Given the description of an element on the screen output the (x, y) to click on. 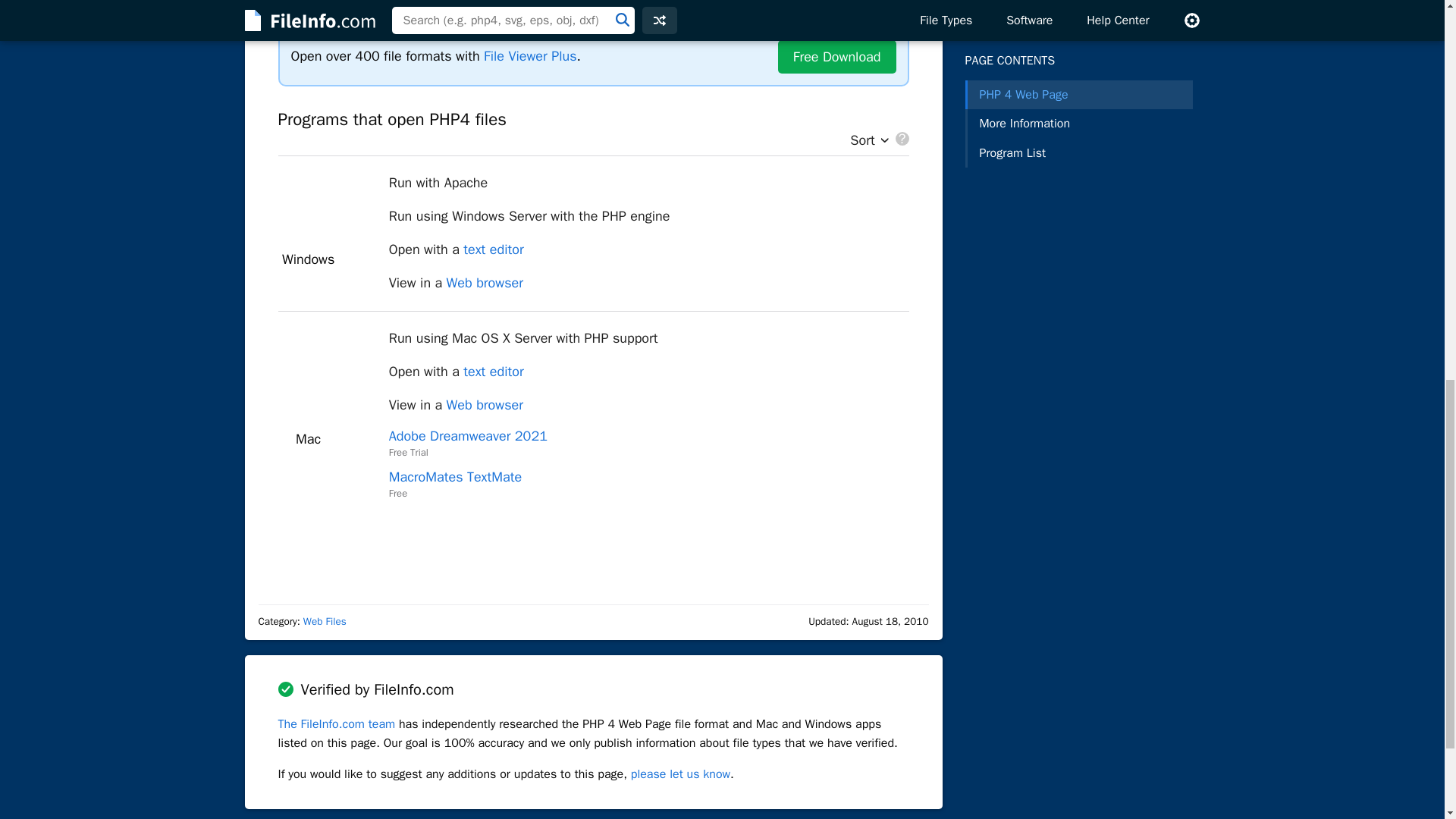
The FileInfo.com team (336, 724)
Web browser (484, 404)
please let us know (680, 774)
Web Files (324, 621)
text editor (492, 371)
MacroMates TextMate (454, 476)
text editor (492, 248)
Web browser (484, 282)
Adobe Dreamweaver 2021 (467, 435)
